Given the description of an element on the screen output the (x, y) to click on. 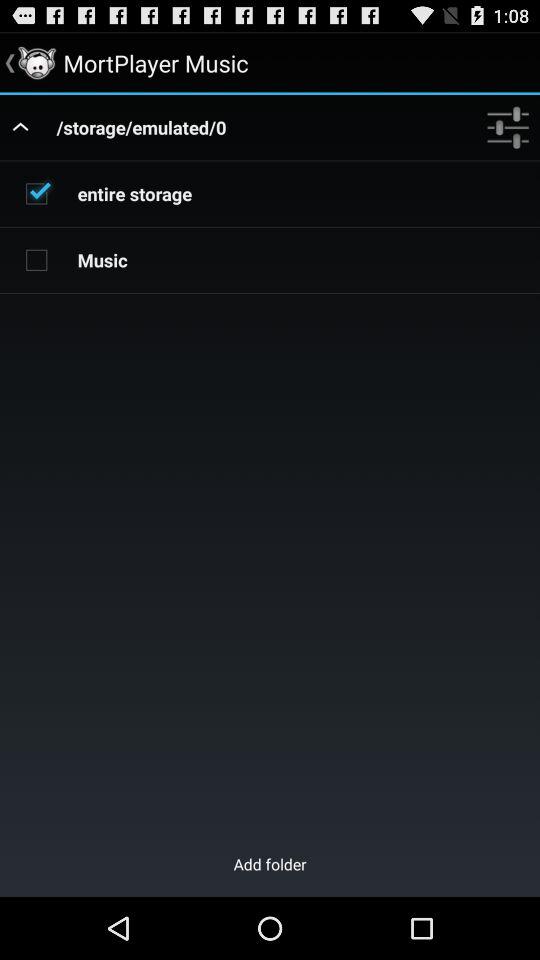
check music (36, 259)
